Given the description of an element on the screen output the (x, y) to click on. 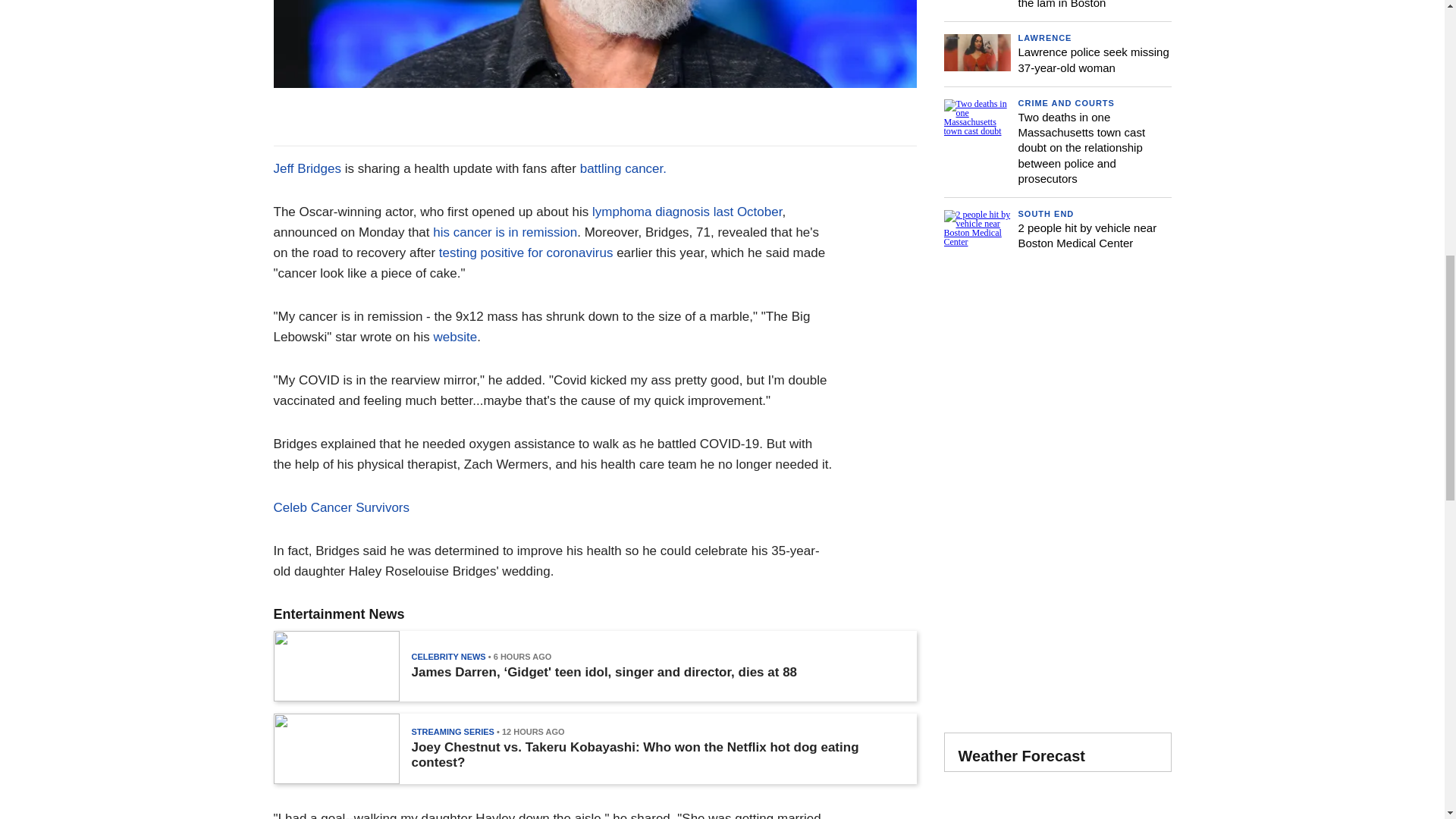
CELEBRITY NEWS (447, 655)
testing positive for coronavirus (525, 252)
Celeb Cancer Survivors (341, 507)
lymphoma diagnosis last October (686, 211)
his cancer is in remission (504, 232)
Jeff Bridges (306, 168)
battling cancer. (622, 168)
website (455, 336)
